Given the description of an element on the screen output the (x, y) to click on. 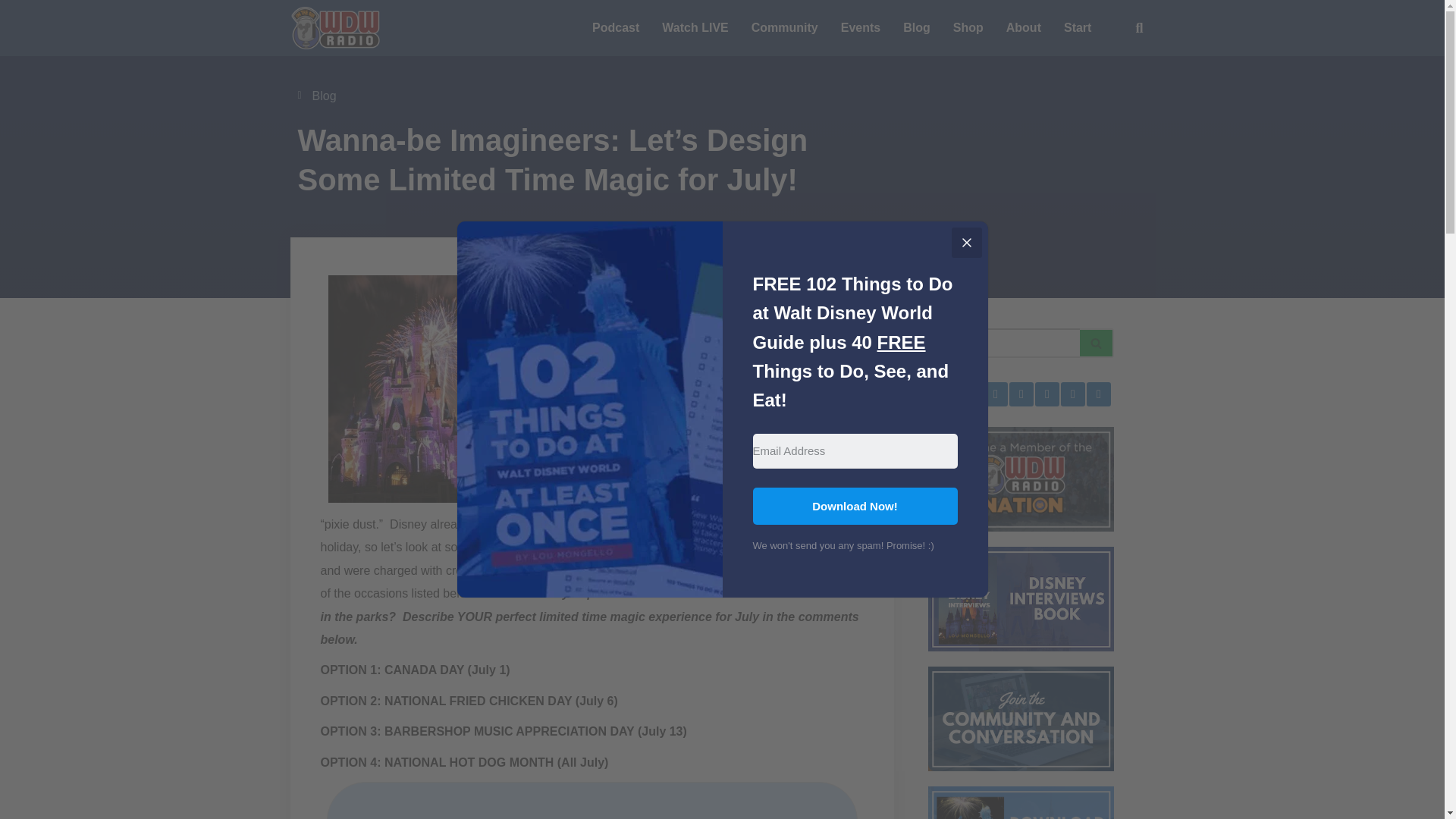
Podcast (615, 28)
Community (784, 28)
Skip to content (11, 31)
Start (1077, 28)
About (1023, 28)
Shop (968, 28)
Blog (324, 95)
Events (860, 28)
Blog (916, 28)
Watch LIVE (694, 28)
